Given the description of an element on the screen output the (x, y) to click on. 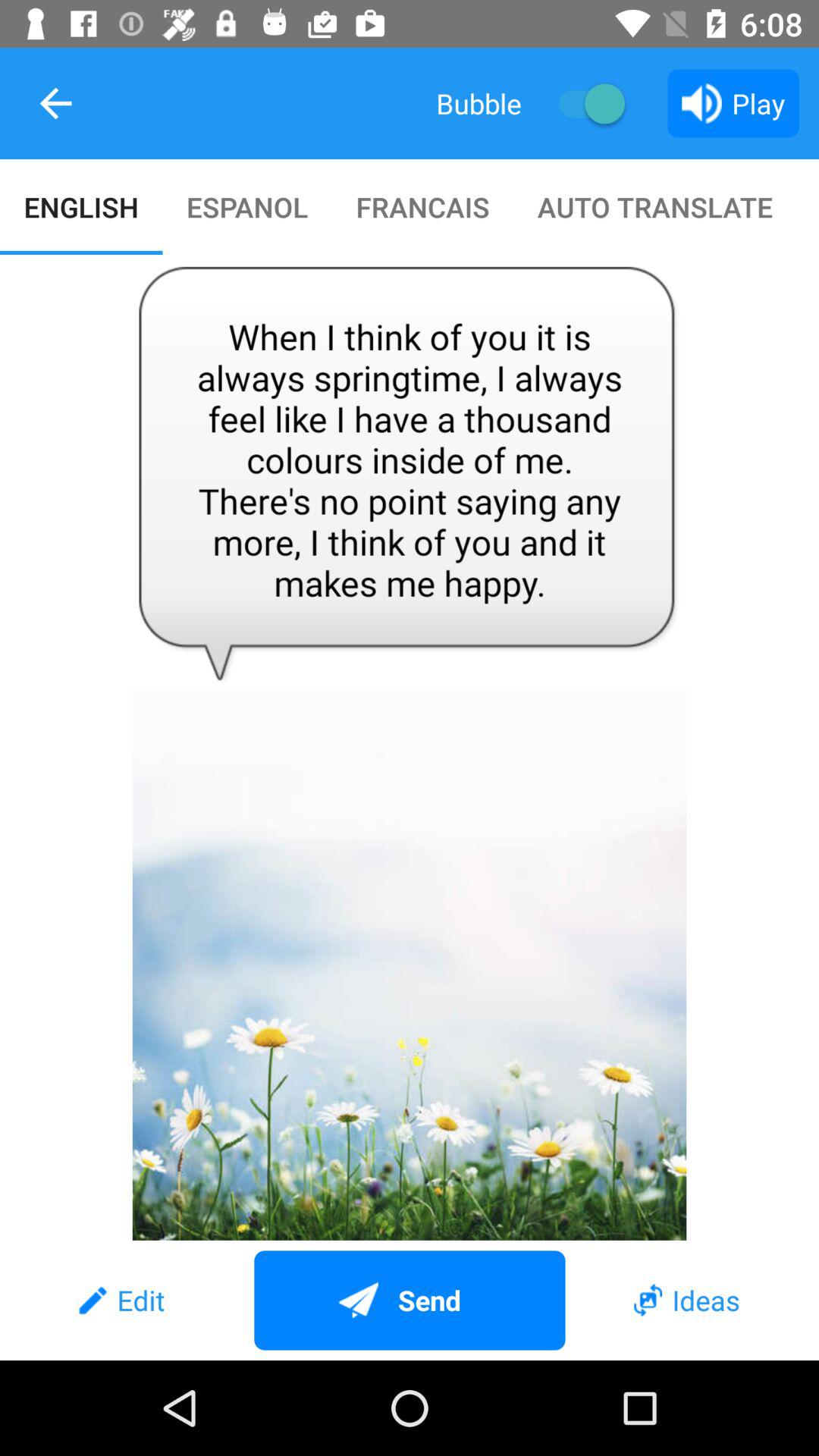
turn off item at the center (409, 748)
